Given the description of an element on the screen output the (x, y) to click on. 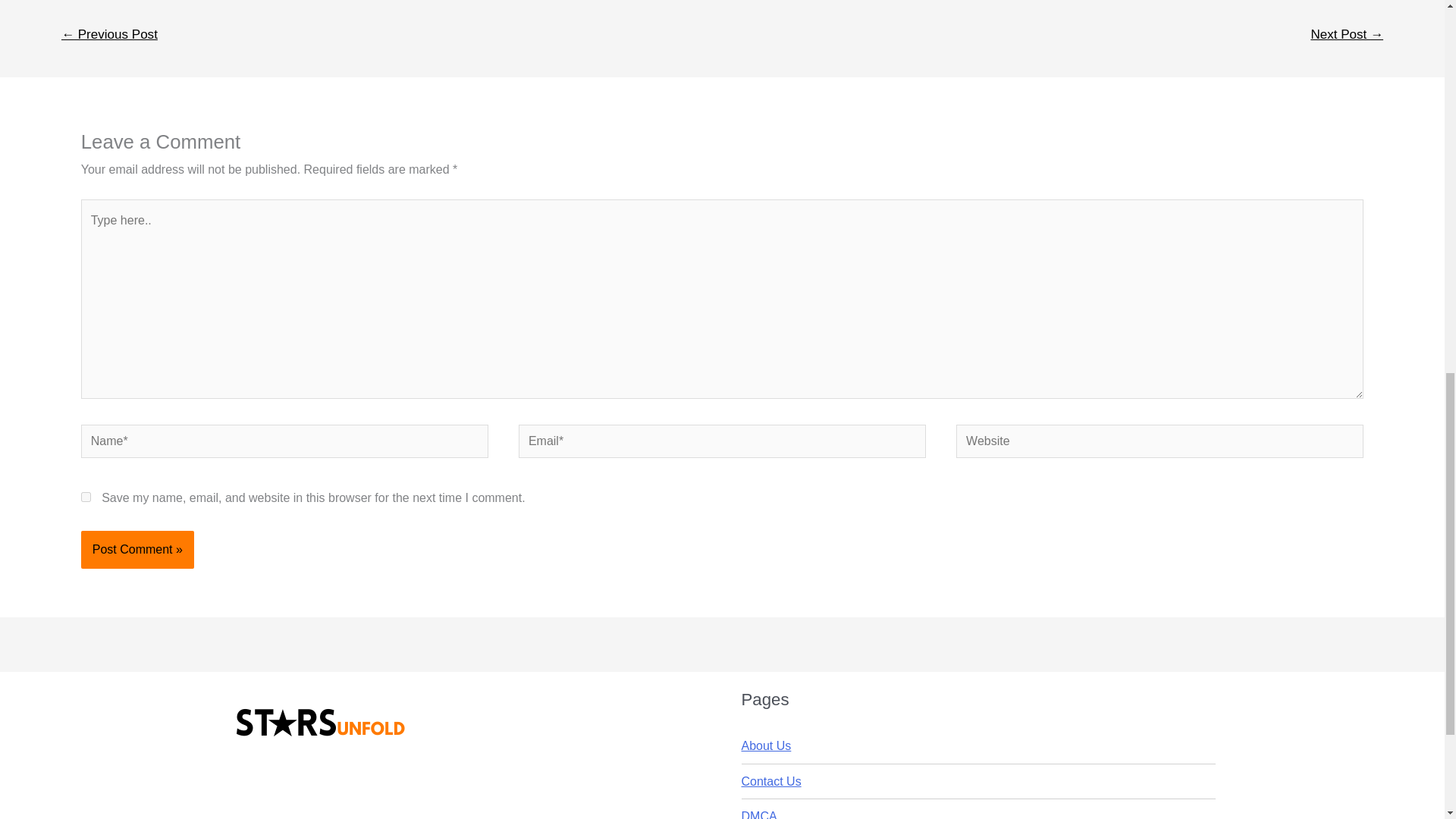
yes (85, 497)
About Us (766, 745)
Contact Us (771, 780)
DMCA (759, 814)
